Given the description of an element on the screen output the (x, y) to click on. 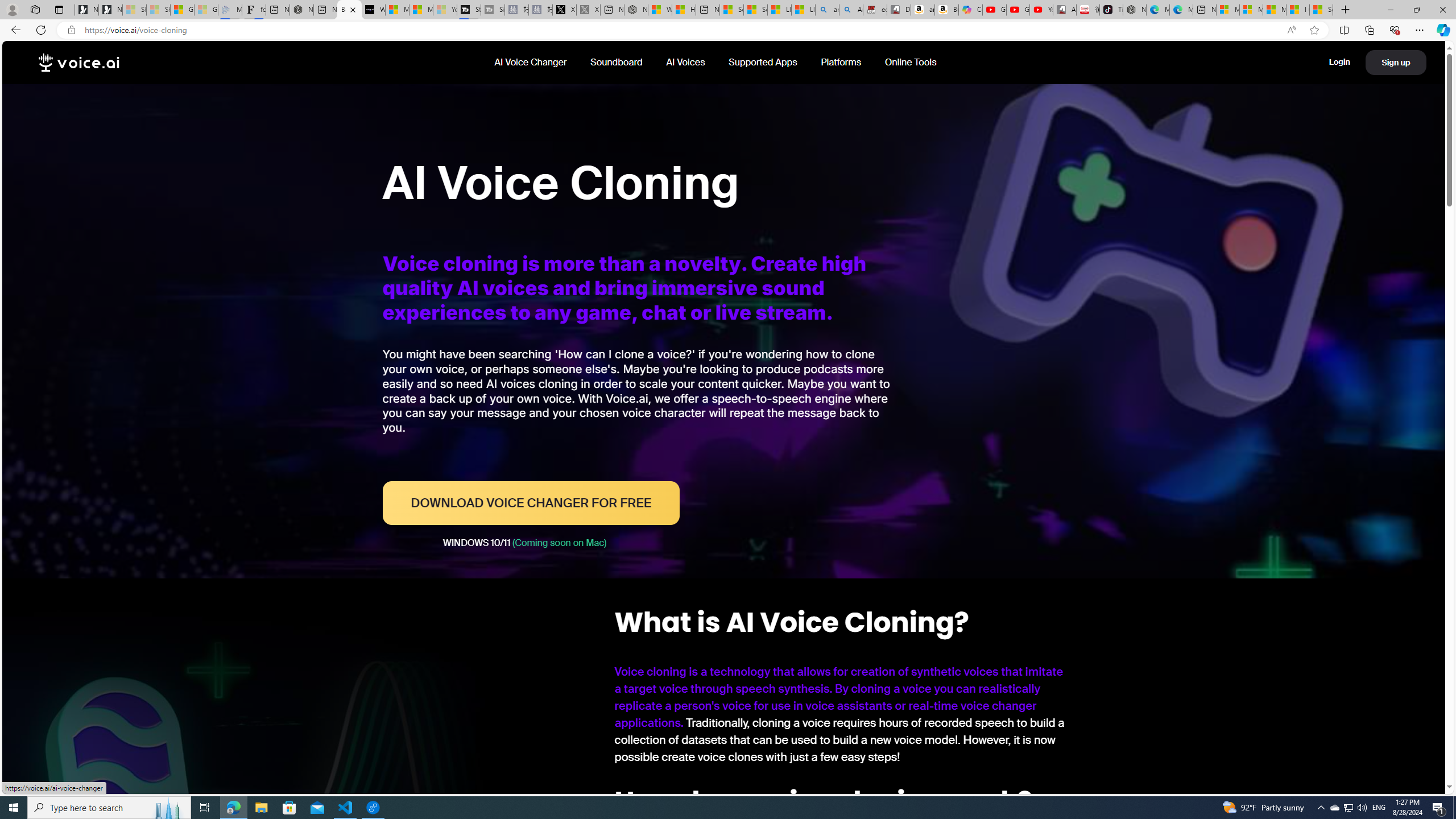
Copilot (970, 9)
Online Tools (909, 61)
DOWNLOAD VOICE CHANGER FOR FREE (530, 502)
Newsletter Sign Up (110, 9)
Supported Apps  (763, 61)
I Gained 20 Pounds of Muscle in 30 Days! | Watch (1297, 9)
AI Voice Changer  (531, 61)
